Given the description of an element on the screen output the (x, y) to click on. 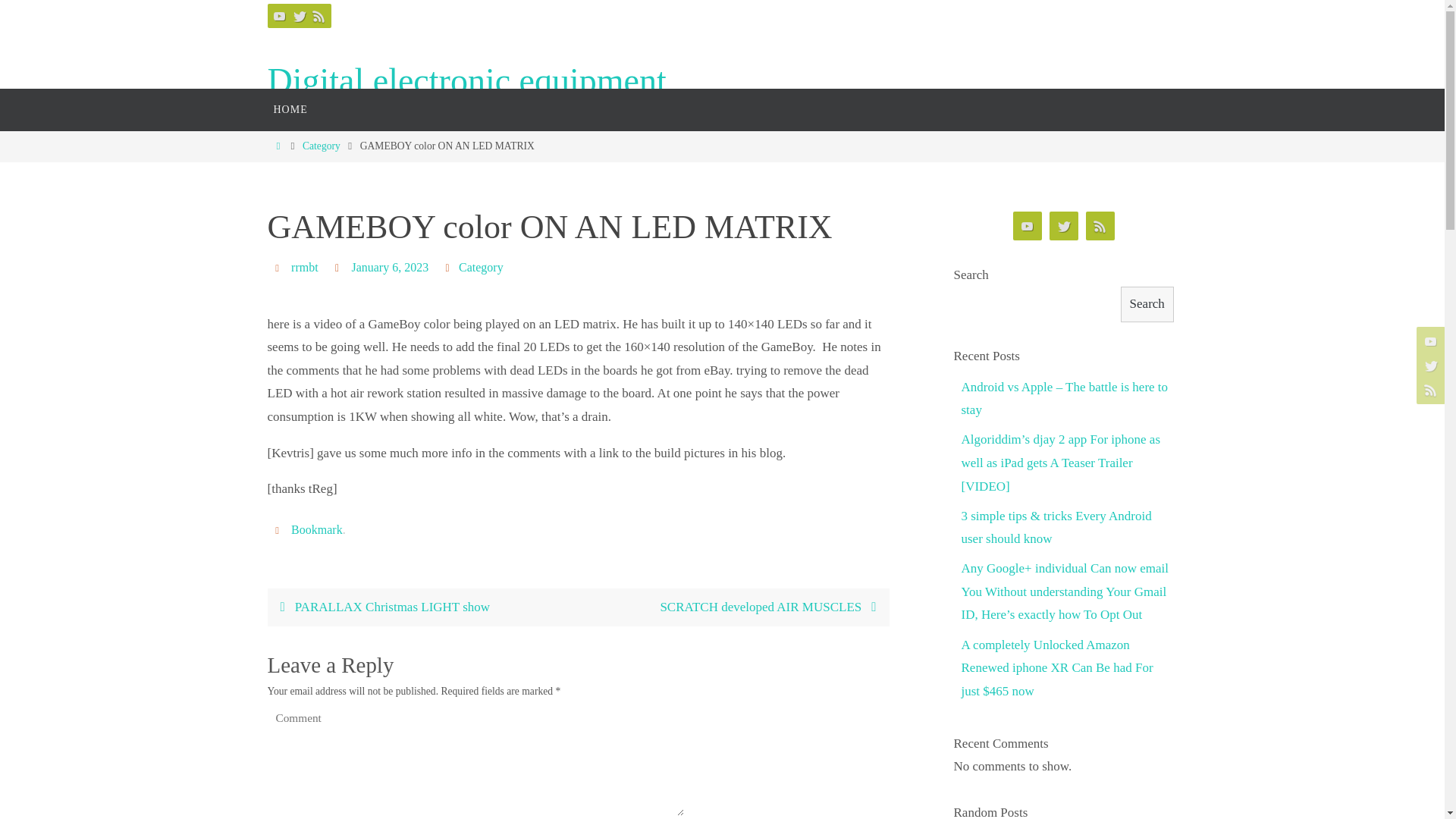
YouTube (1428, 340)
YouTube (278, 15)
HOME (289, 109)
Search (1147, 304)
YouTube (1027, 225)
January 6, 2023 (389, 267)
View all posts by rrmbt (304, 267)
Category (480, 267)
 Bookmark the permalink (278, 529)
RSS (317, 15)
Digital electronic equipment (465, 81)
Permalink to GAMEBOY color ON AN LED MATRIX (316, 530)
rrmbt (304, 267)
SCRATCH developed AIR MUSCLES (733, 607)
